Given the description of an element on the screen output the (x, y) to click on. 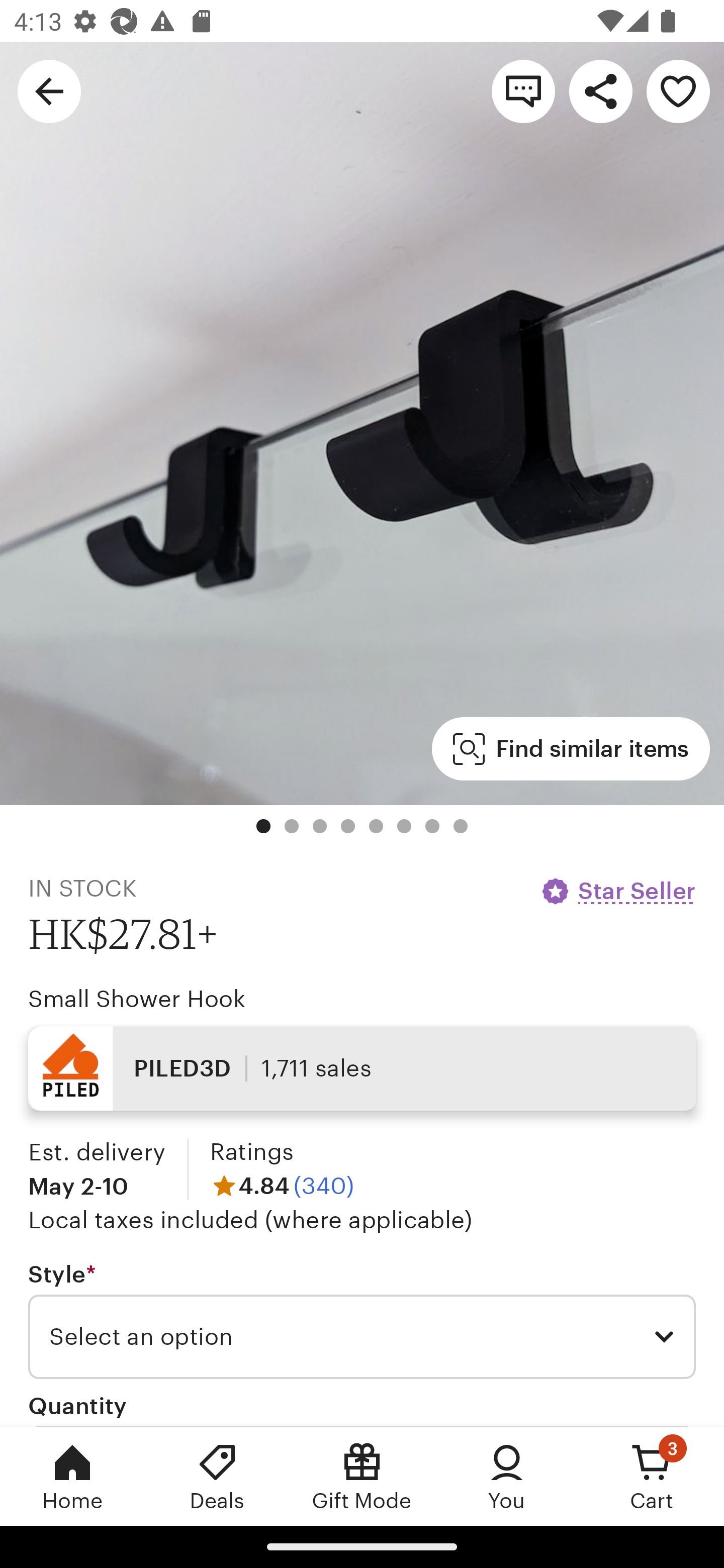
Navigate up (49, 90)
Contact shop (523, 90)
Share (600, 90)
Remove Small Shower Hook from your favorites (678, 90)
Find similar items (571, 748)
Star Seller (617, 890)
Small Shower Hook (136, 999)
PILED3D 1,711 sales (361, 1067)
Ratings (251, 1151)
4.84 (340) (281, 1185)
Style * Required Select an option (361, 1319)
Select an option (361, 1336)
Quantity (77, 1405)
Deals (216, 1475)
Gift Mode (361, 1475)
You (506, 1475)
Cart, 3 new notifications Cart (651, 1475)
